Given the description of an element on the screen output the (x, y) to click on. 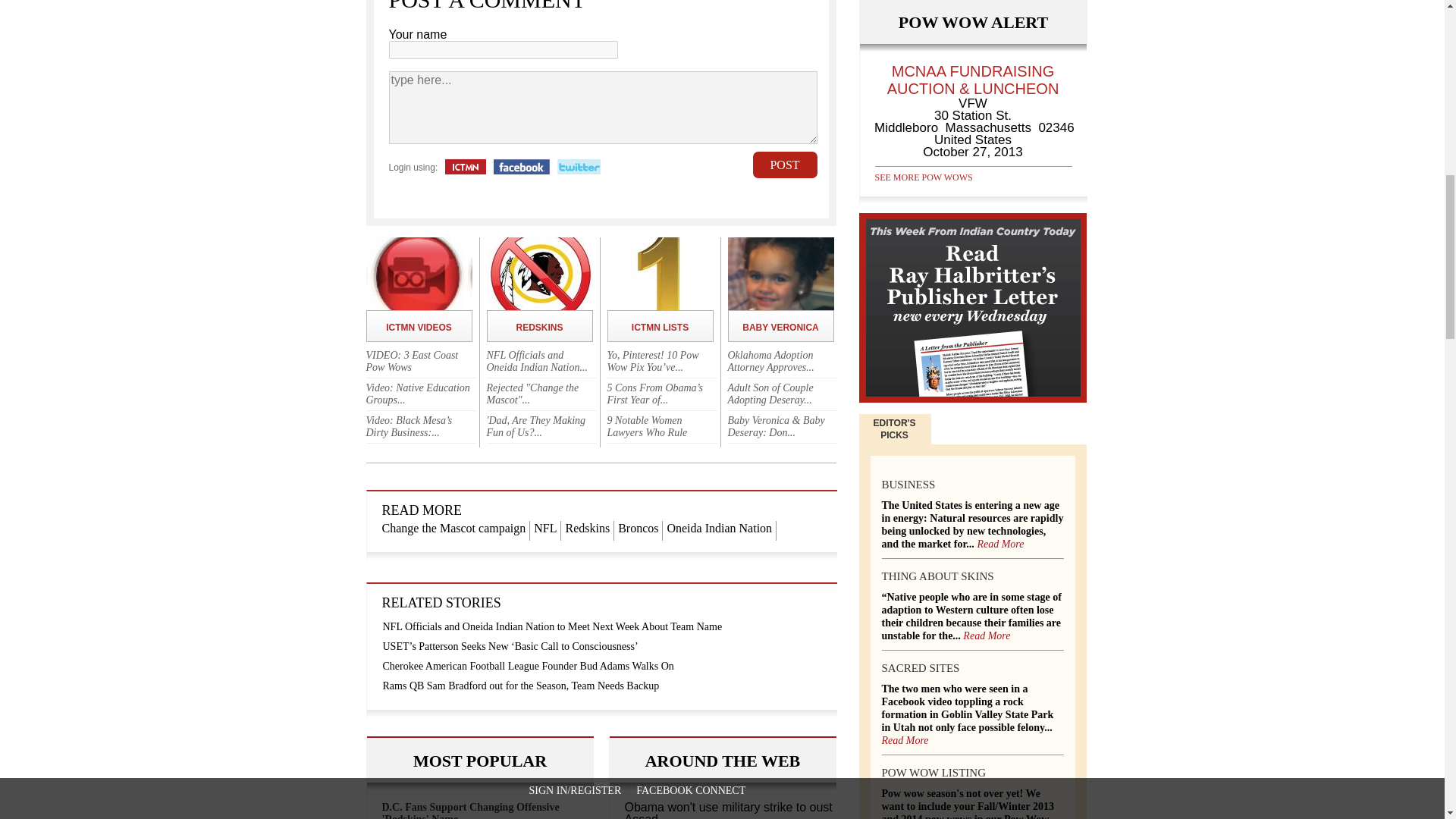
POST (784, 164)
